Given the description of an element on the screen output the (x, y) to click on. 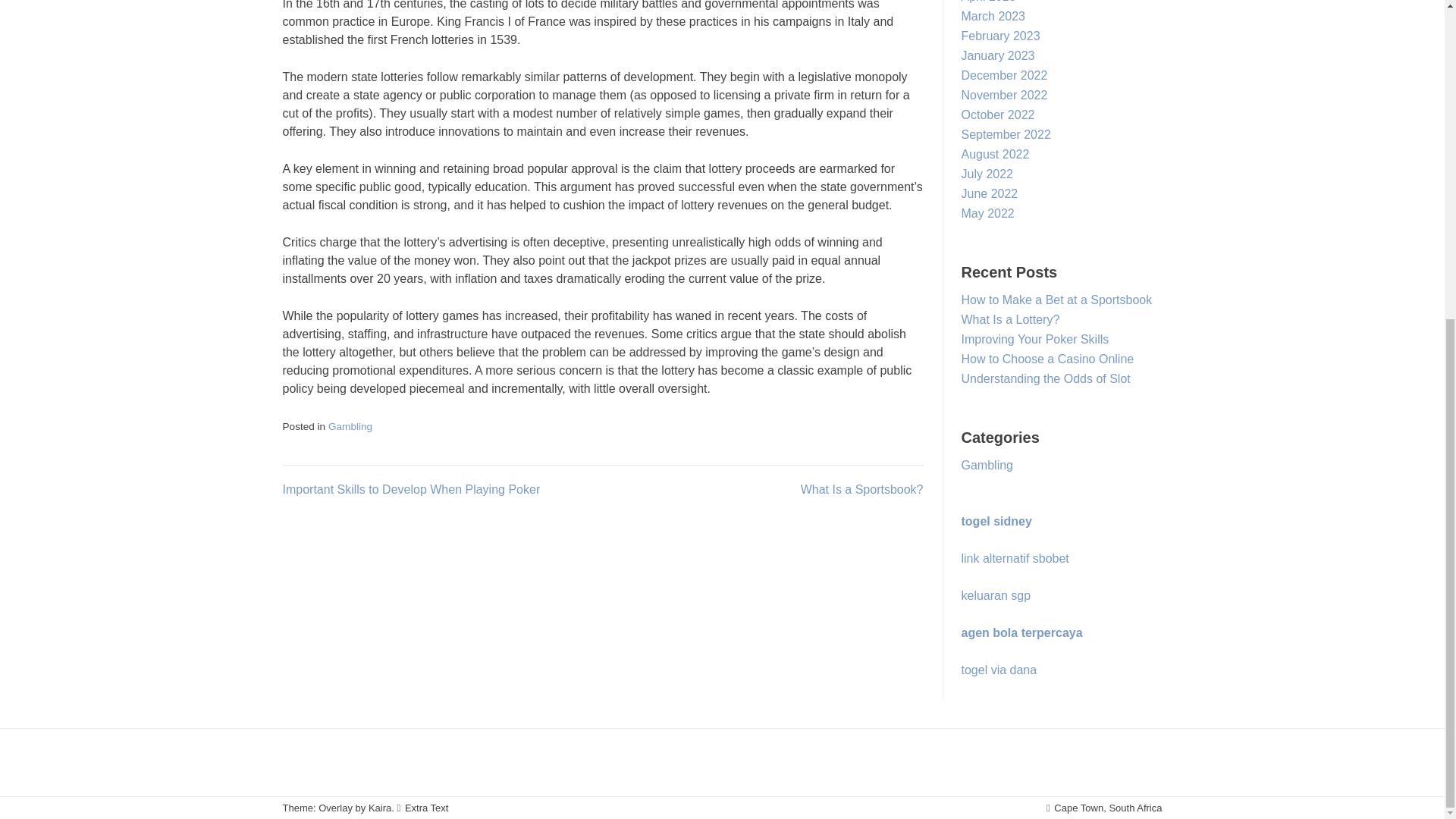
November 2022 (1004, 94)
February 2023 (1000, 35)
How to Make a Bet at a Sportsbook (1056, 299)
September 2022 (1005, 133)
August 2022 (994, 154)
July 2022 (986, 173)
What Is a Sportsbook? (861, 489)
May 2022 (987, 213)
March 2023 (993, 15)
January 2023 (997, 55)
